Given the description of an element on the screen output the (x, y) to click on. 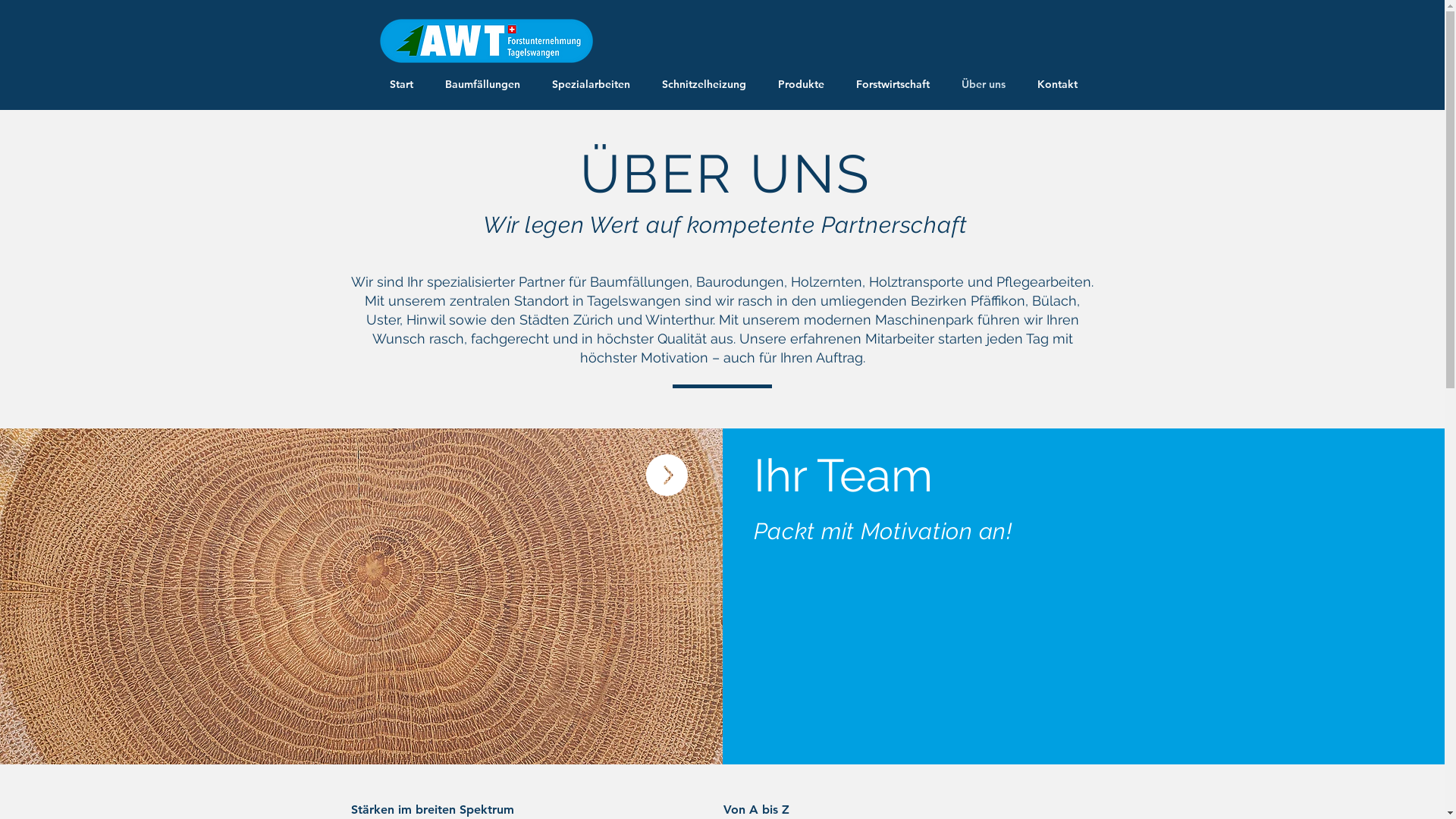
Produkte Element type: text (801, 84)
Start Element type: text (401, 84)
Spezialarbeiten Element type: text (591, 84)
Kontakt Element type: text (1058, 84)
Schnitzelheizung Element type: text (704, 84)
Forstwirtschaft Element type: text (892, 84)
